Given the description of an element on the screen output the (x, y) to click on. 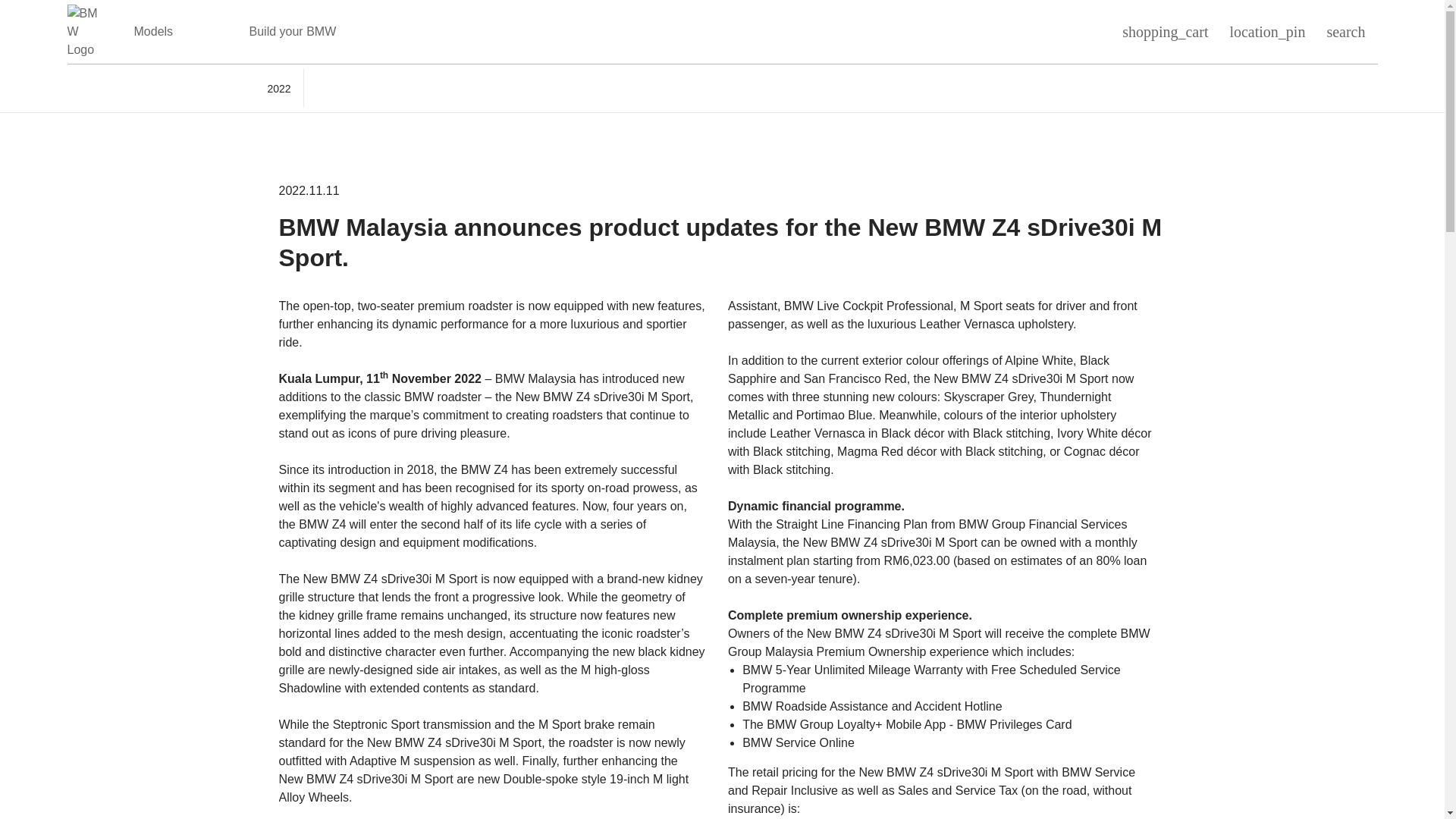
Electric (211, 31)
More BMW (564, 31)
Shop Online (387, 31)
Build your BMW (293, 31)
Models (152, 31)
Special Offers (476, 31)
